Given the description of an element on the screen output the (x, y) to click on. 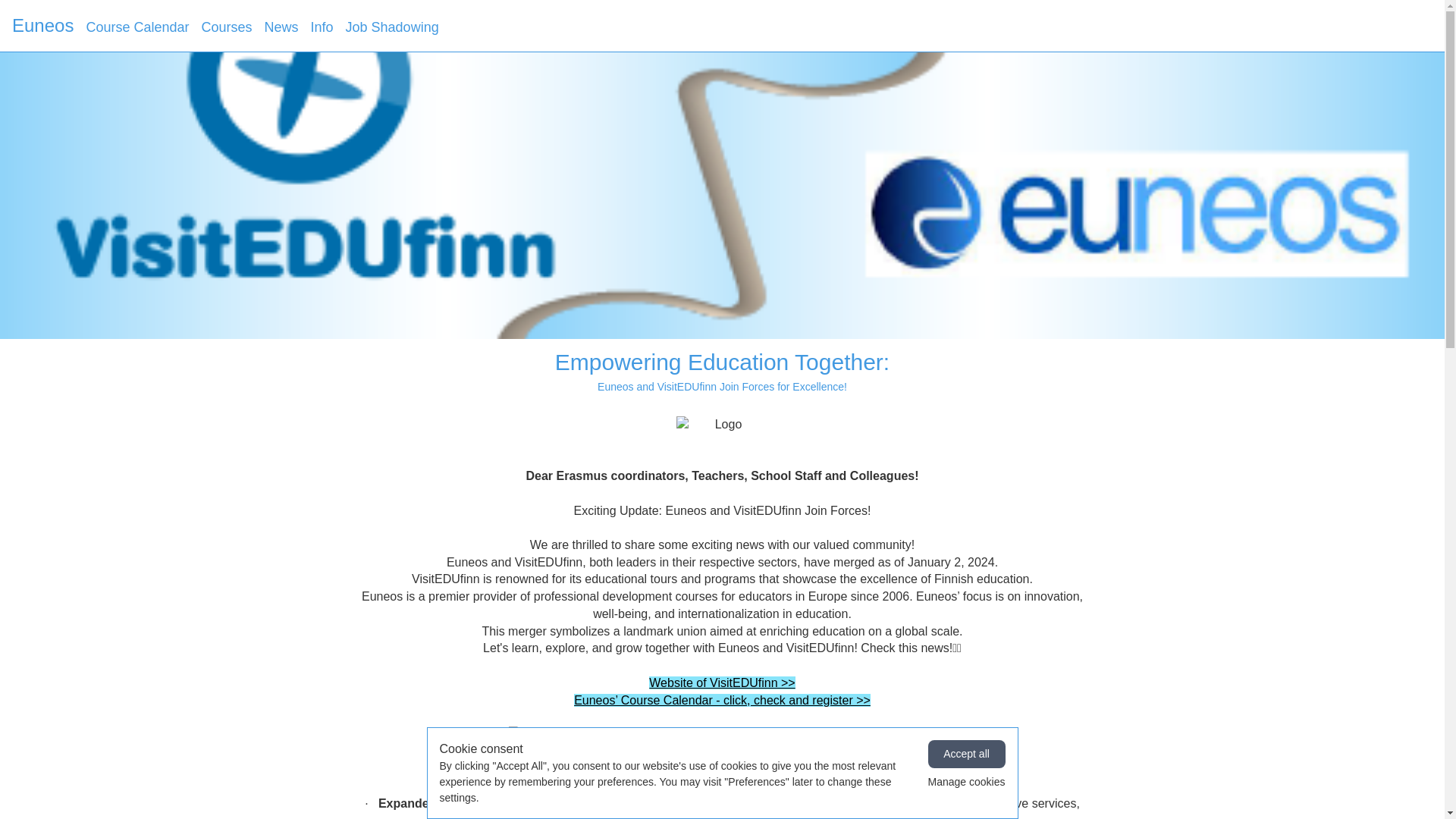
Info (322, 27)
Job Shadowing (392, 27)
Euneos (42, 25)
Course Calendar (137, 27)
Accept all (967, 754)
Courses (225, 27)
Manage cookies (967, 781)
News (281, 27)
